Given the description of an element on the screen output the (x, y) to click on. 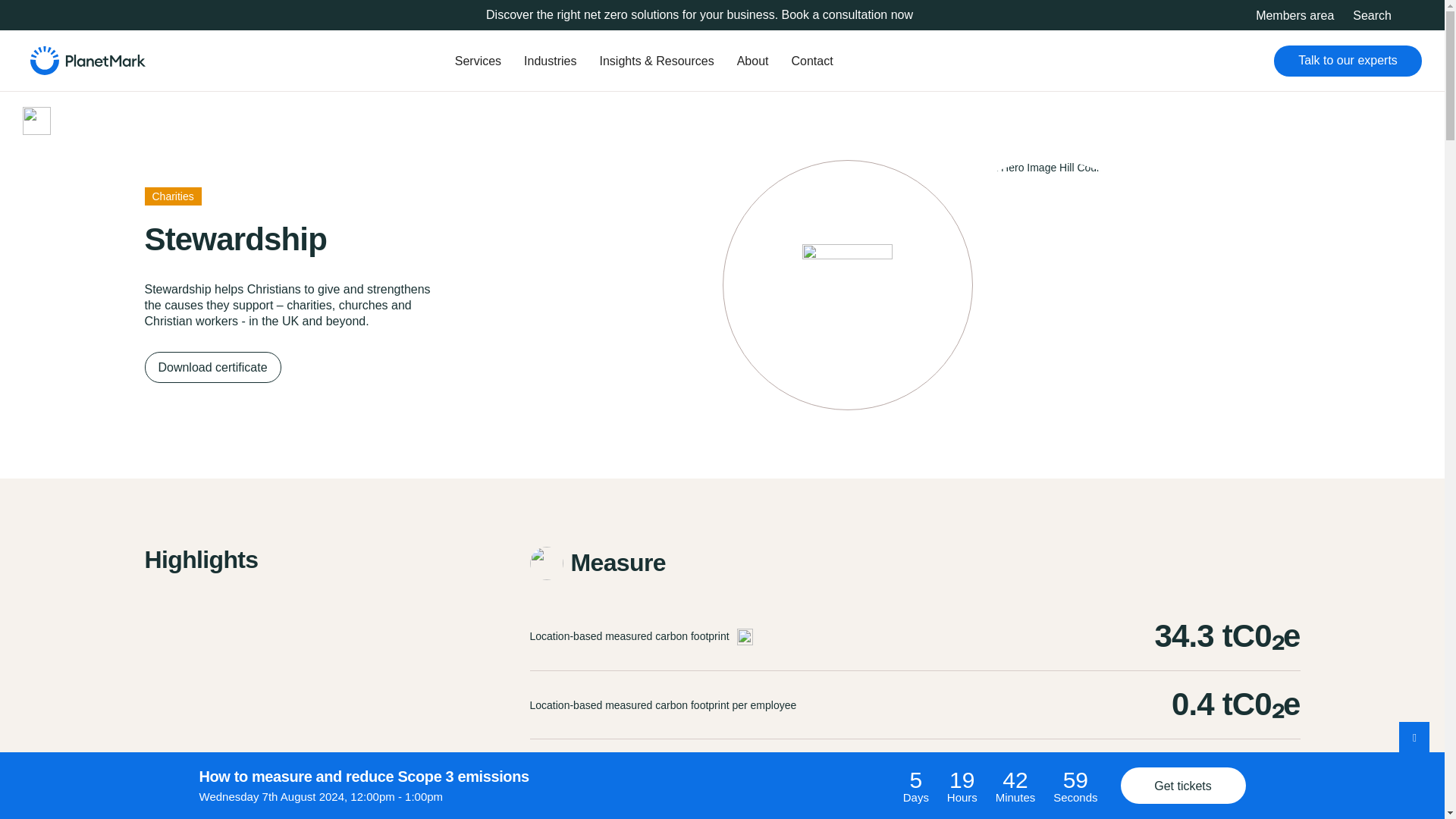
Contact (811, 50)
Search (558, 248)
Talk to our experts (1348, 60)
Download certificate (212, 367)
Members area (1294, 15)
